Given the description of an element on the screen output the (x, y) to click on. 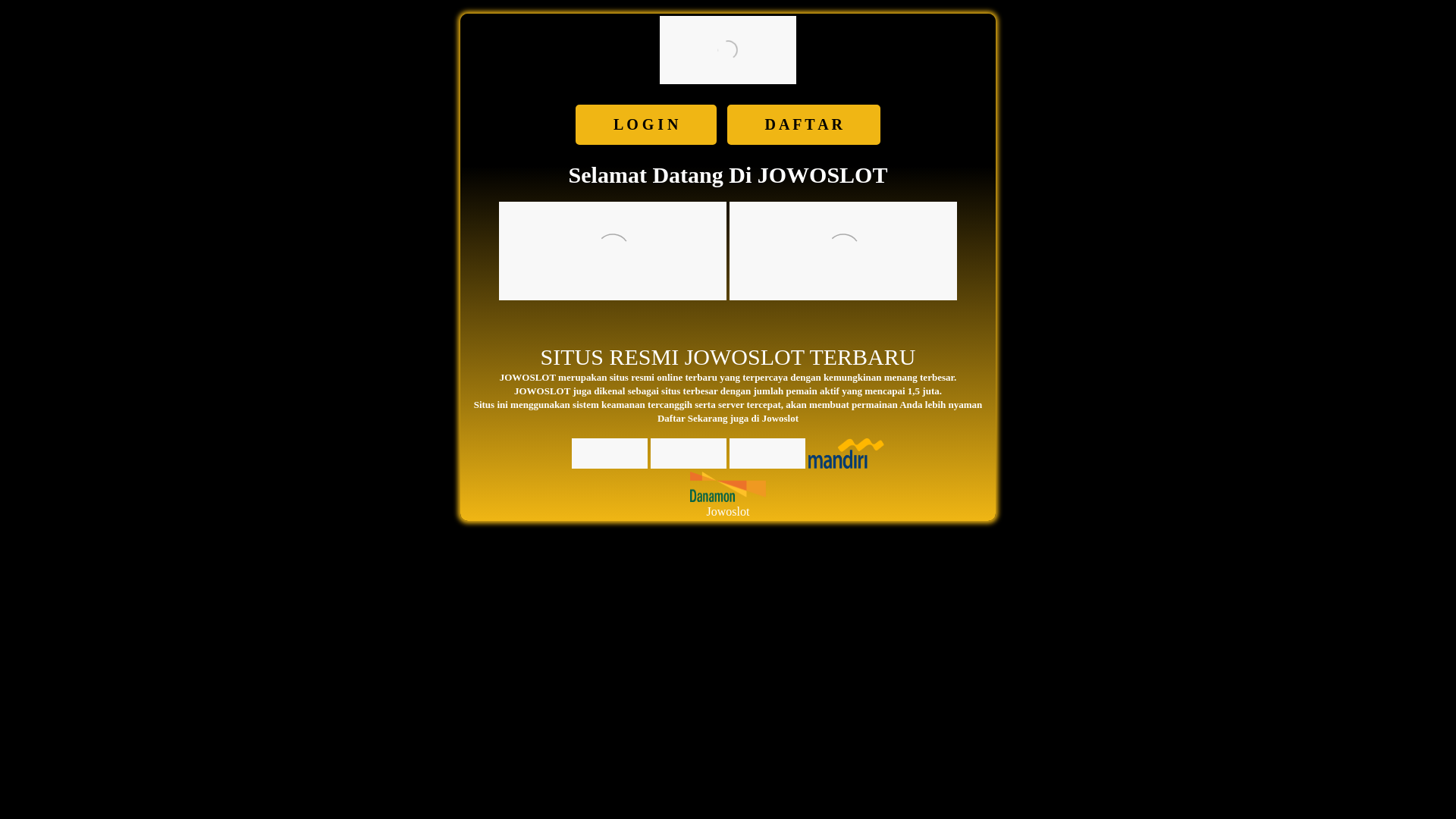
jowoslot (727, 49)
jowoslot (842, 250)
Bank Mandiri (845, 453)
L O G I N (646, 124)
Bank BRI (688, 453)
Bank Danamon (727, 486)
jowoslot (612, 250)
Bank BCA (609, 453)
Bank BNI (767, 453)
D A F T A R (803, 124)
